Given the description of an element on the screen output the (x, y) to click on. 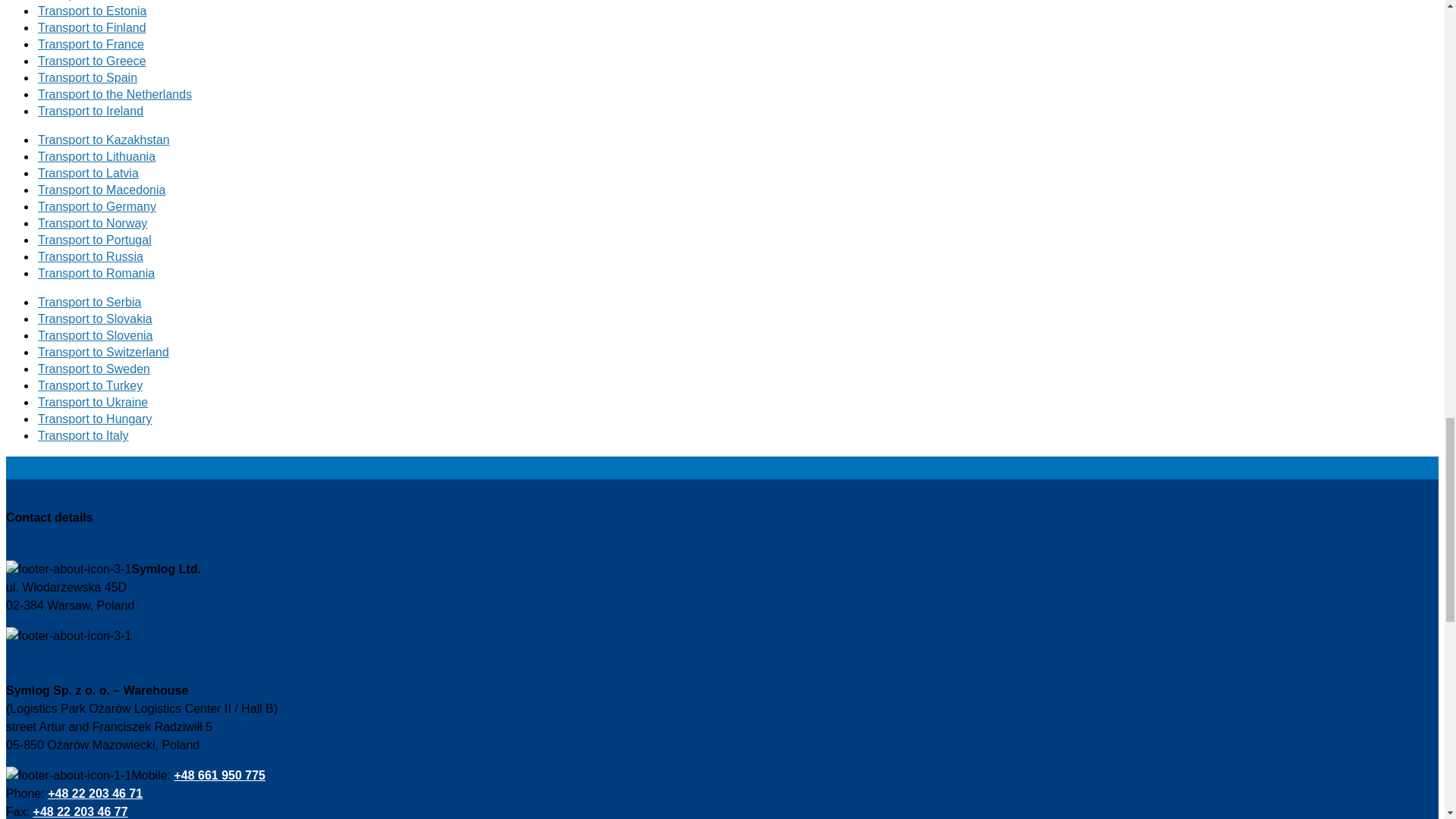
Transport to Estonia (92, 10)
Transport to France (90, 43)
Transport to Finland (92, 27)
Transport to Greece (92, 60)
Transport to Spain (86, 77)
